Given the description of an element on the screen output the (x, y) to click on. 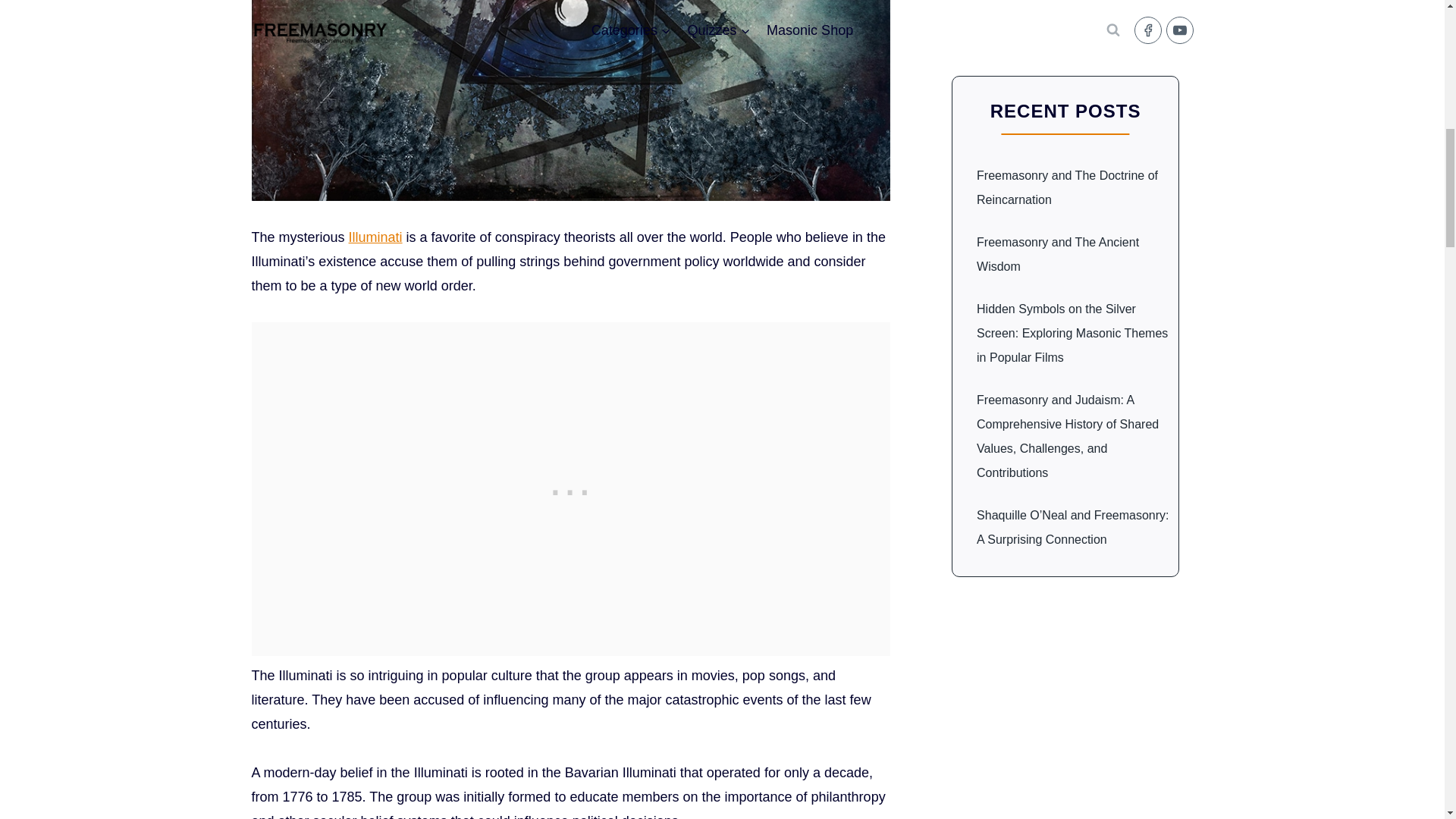
Illuminati (376, 237)
